Given the description of an element on the screen output the (x, y) to click on. 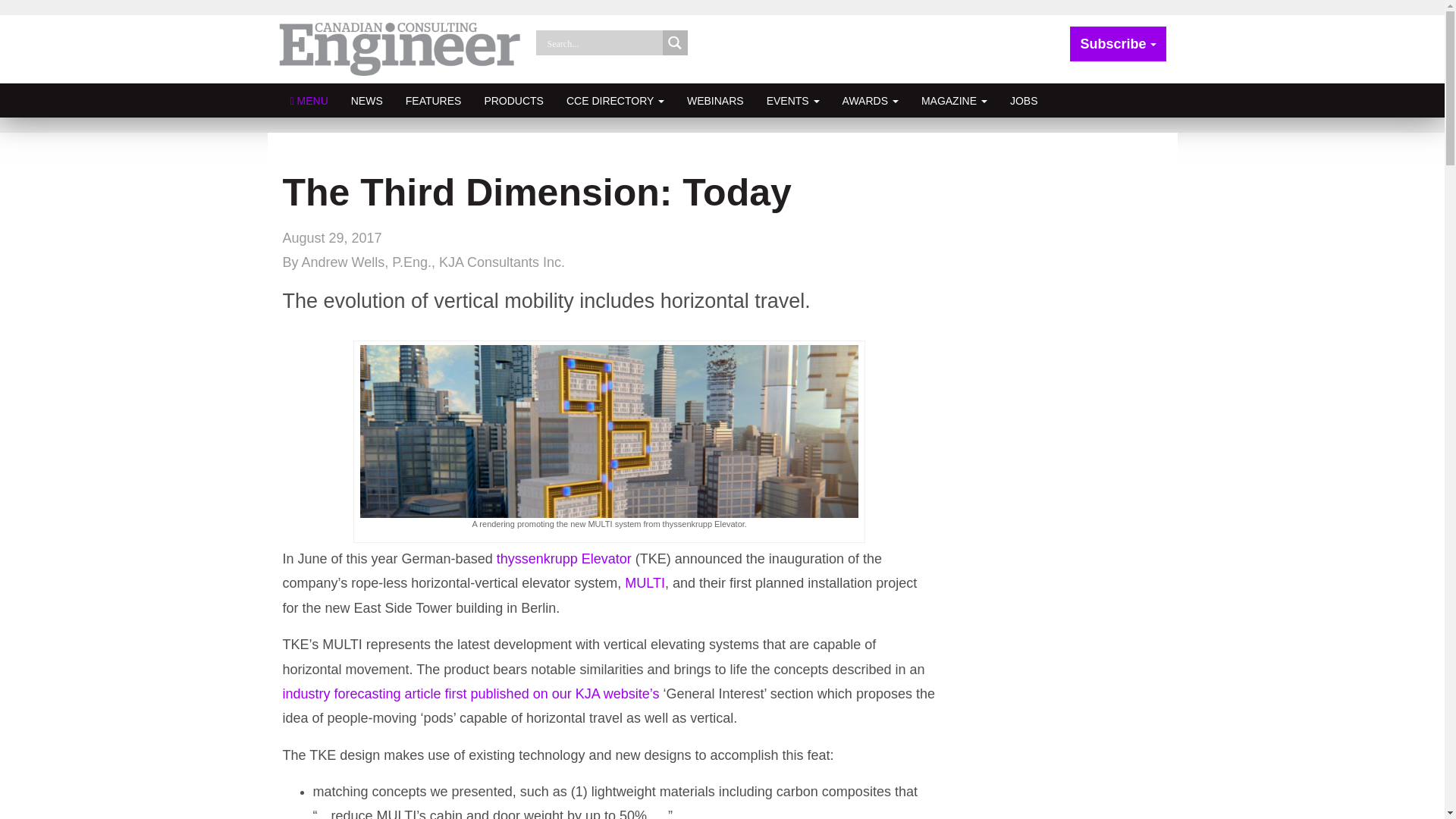
PRODUCTS (512, 100)
FEATURES (433, 100)
CCE DIRECTORY (614, 100)
AWARDS (870, 100)
NEWS (366, 100)
EVENTS (793, 100)
JOBS (1023, 100)
WEBINARS (715, 100)
Subscribe (1118, 43)
Canadian Consulting Engineer (400, 48)
